Given the description of an element on the screen output the (x, y) to click on. 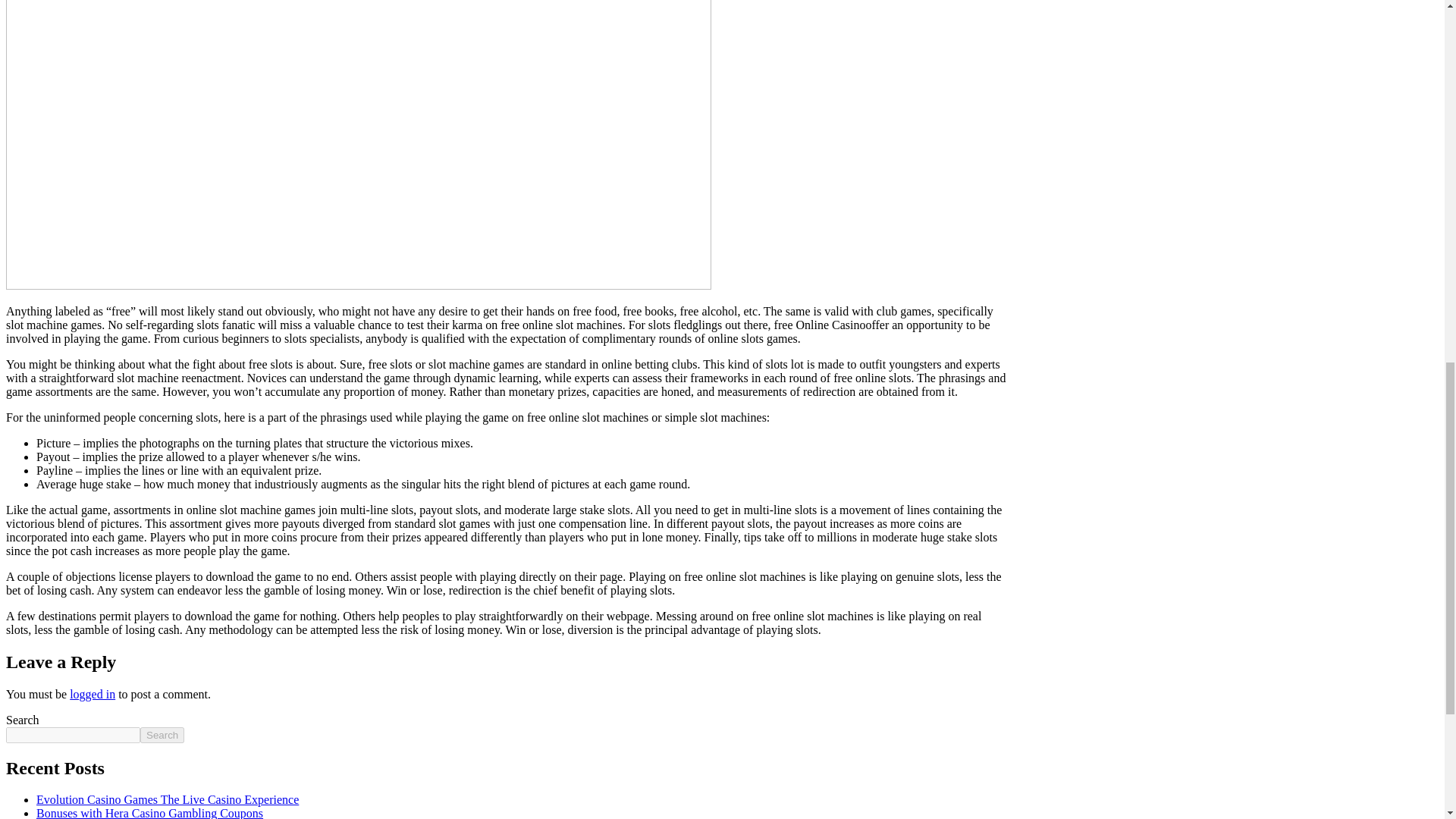
Search (161, 734)
logged in (92, 694)
Evolution Casino Games The Live Casino Experience (167, 799)
Bonuses with Hera Casino Gambling Coupons (149, 812)
